Given the description of an element on the screen output the (x, y) to click on. 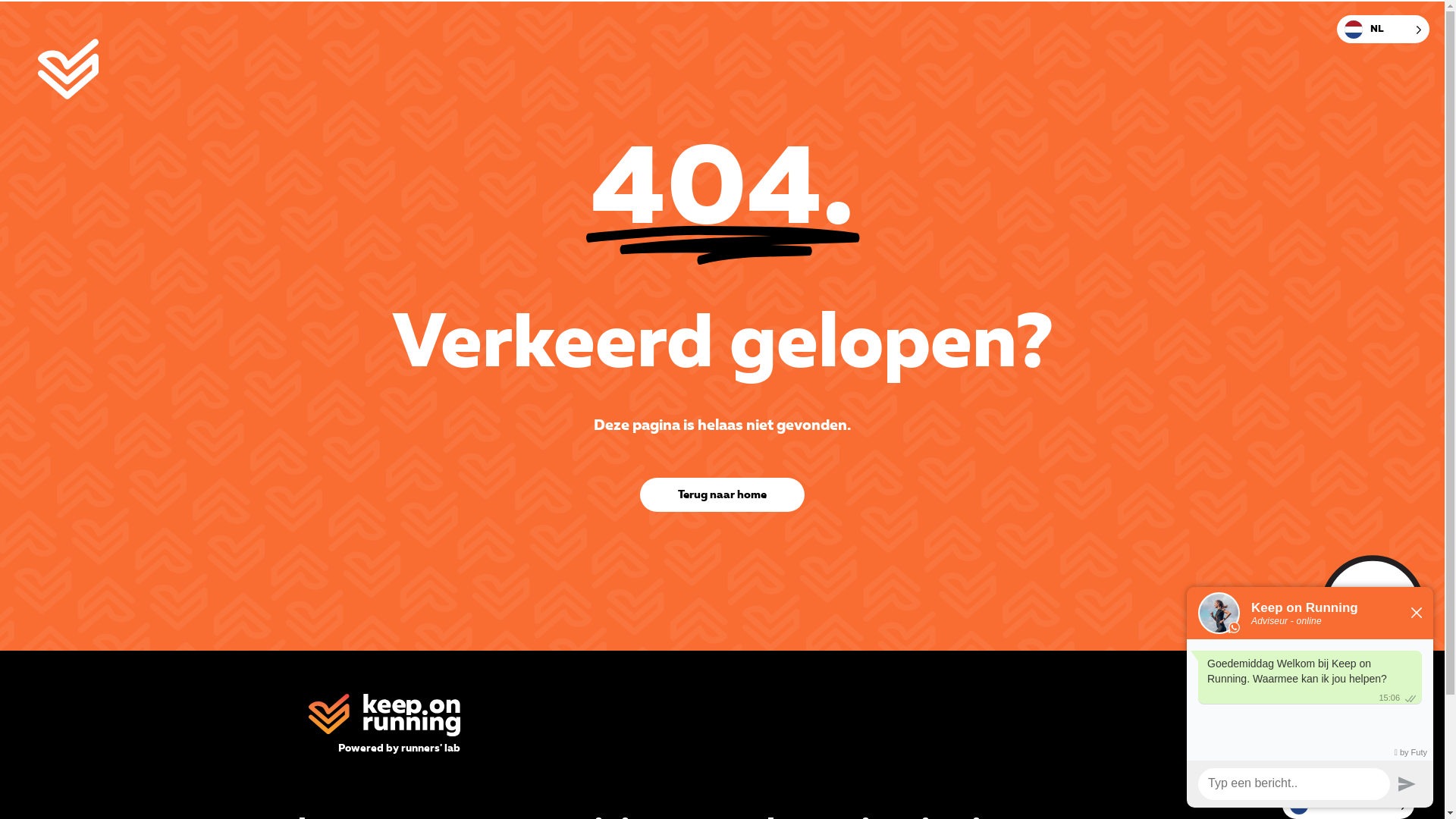
Powered by runners' lab Element type: text (399, 747)
Terug naar home Element type: text (722, 494)
